Given the description of an element on the screen output the (x, y) to click on. 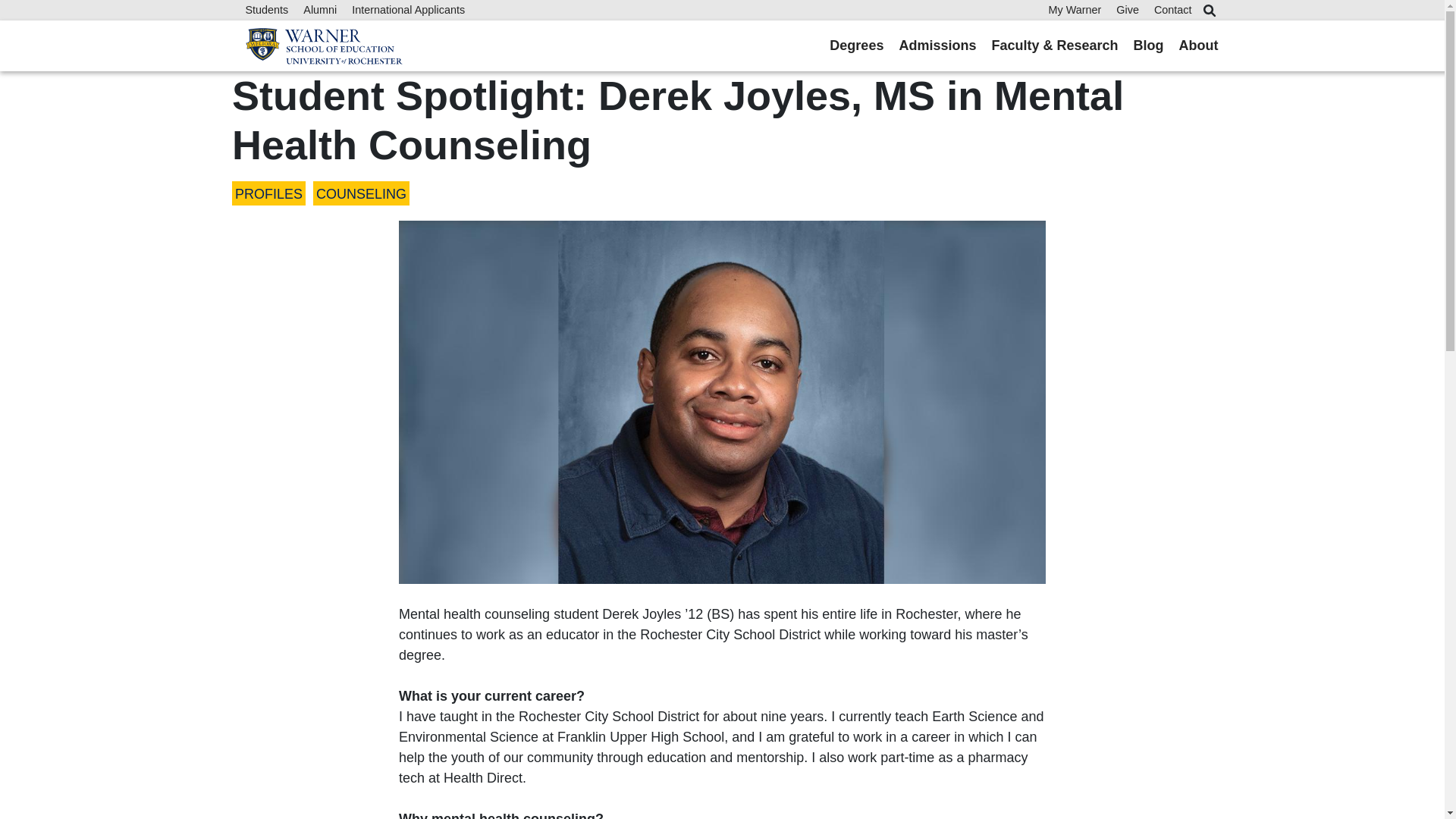
International Applicants (408, 9)
My Warner (1074, 9)
Alumni (319, 9)
Give (1127, 9)
PROFILES (268, 193)
Contact (1173, 9)
Degrees (856, 46)
Blog (1148, 46)
Students (267, 9)
COUNSELING (360, 193)
About (1198, 46)
Admissions (936, 46)
